Given the description of an element on the screen output the (x, y) to click on. 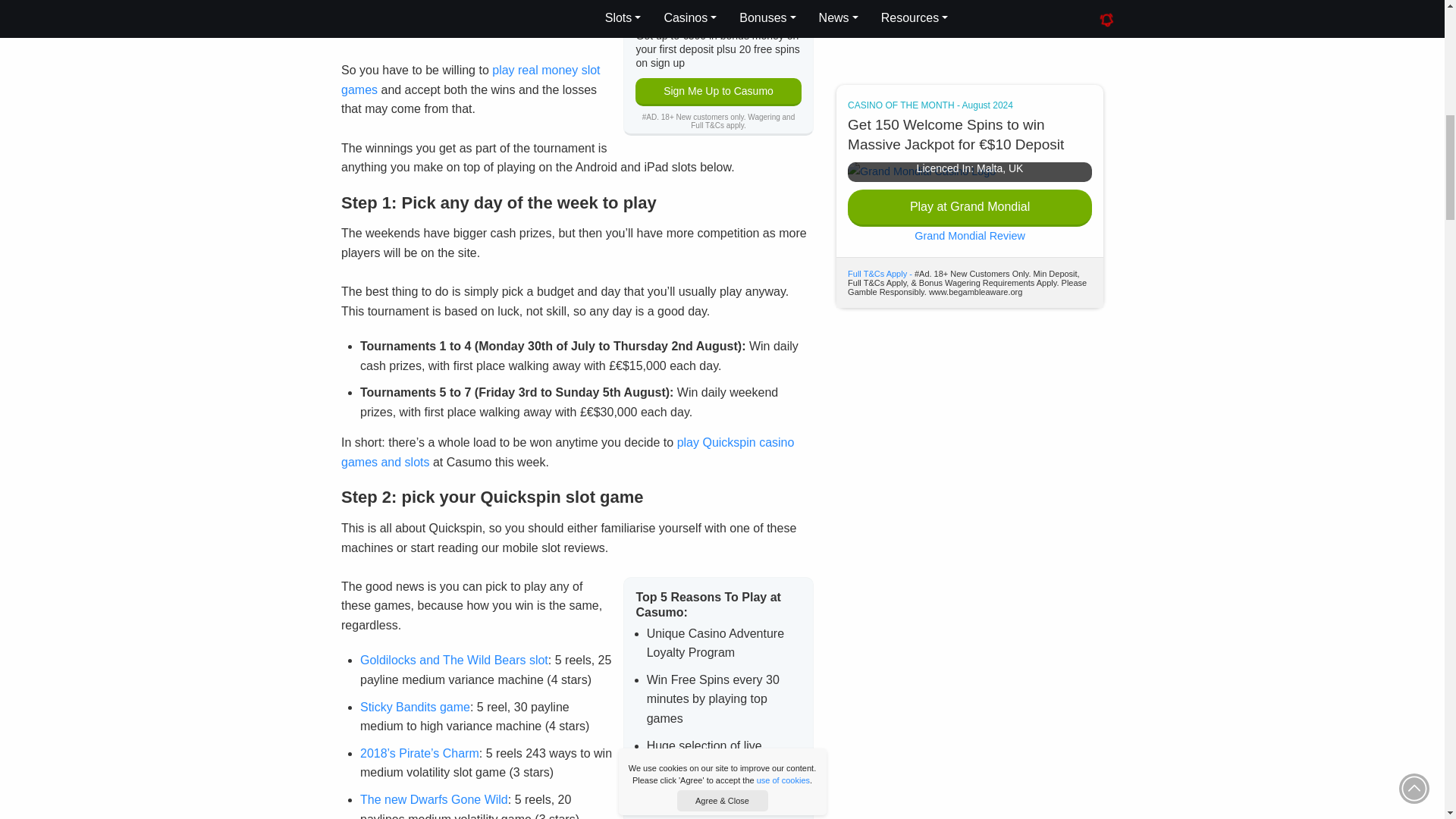
Goldilocks and the Wild Bears Slot Review (453, 659)
List of Quickspin Slots (566, 451)
Pirates Charm Mobile Slot Review (419, 753)
Real Money Mobile Slots List (469, 79)
Sign Me Up to Casumo (717, 91)
Sticky Bandits Review (414, 707)
Dwarfs Gone Wild Review (433, 799)
